Given the description of an element on the screen output the (x, y) to click on. 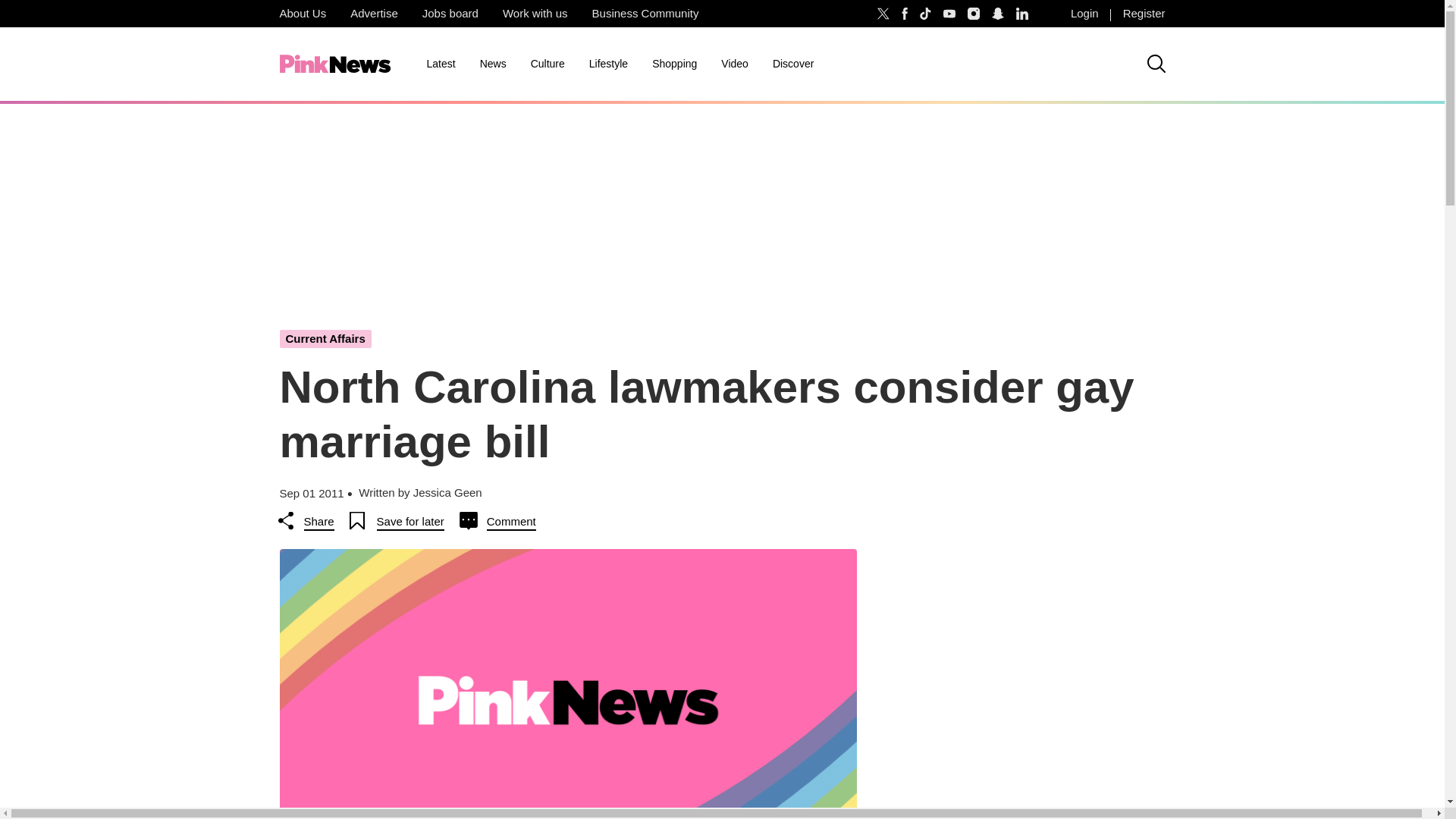
Business Community (645, 13)
Latest (440, 63)
Work with us (534, 13)
Culture (547, 63)
News (493, 63)
Follow PinkNews on LinkedIn (1021, 13)
About Us (301, 13)
Register (1143, 13)
Lifestyle (608, 63)
Advertise (373, 13)
